Given the description of an element on the screen output the (x, y) to click on. 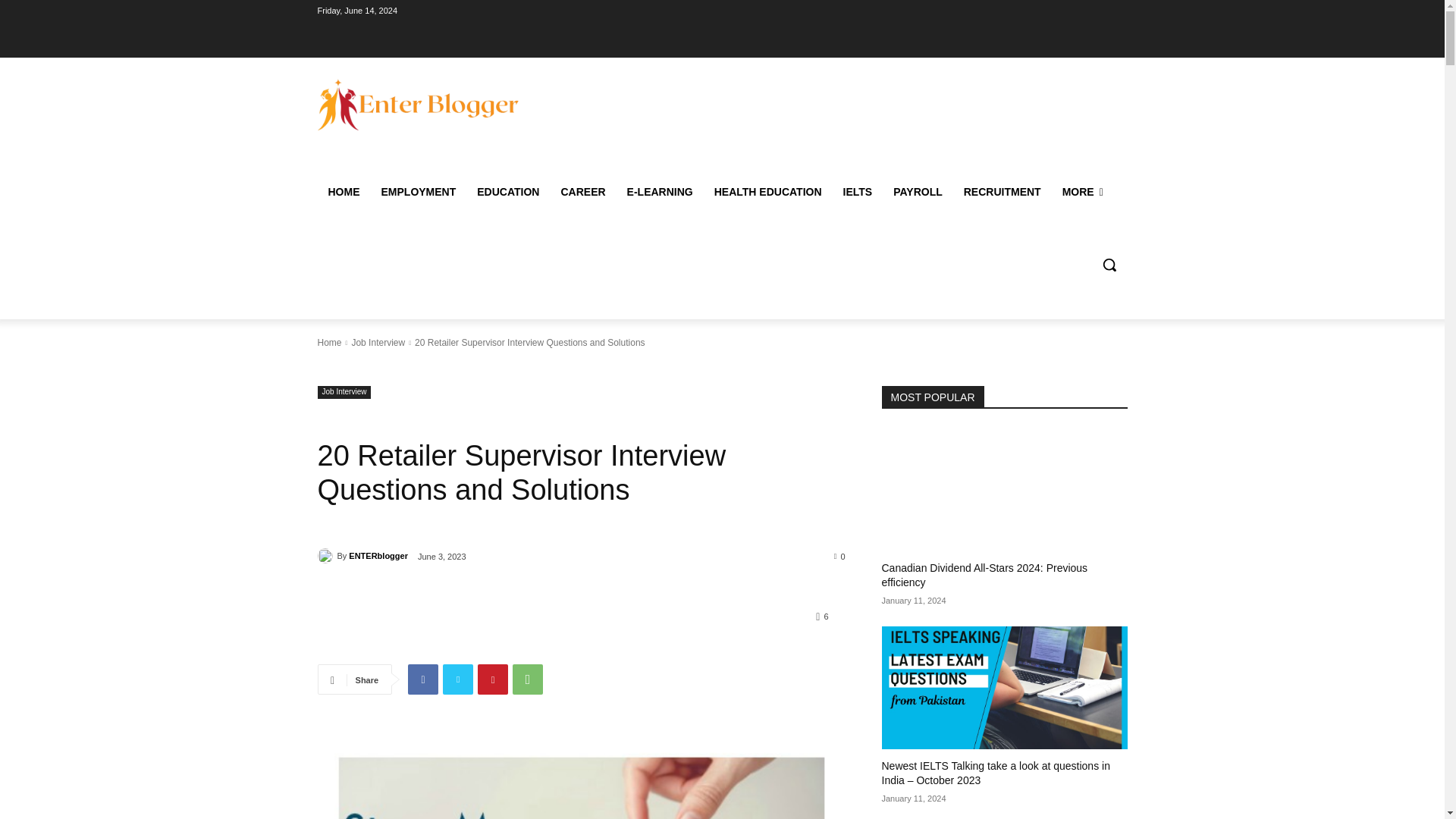
Facebook (422, 679)
WhatsApp (527, 679)
View all posts in Job Interview (377, 342)
Twitter (457, 679)
EMPLOYMENT (417, 191)
Pinterest (492, 679)
HOME (343, 191)
ENTERblogger (326, 555)
